Given the description of an element on the screen output the (x, y) to click on. 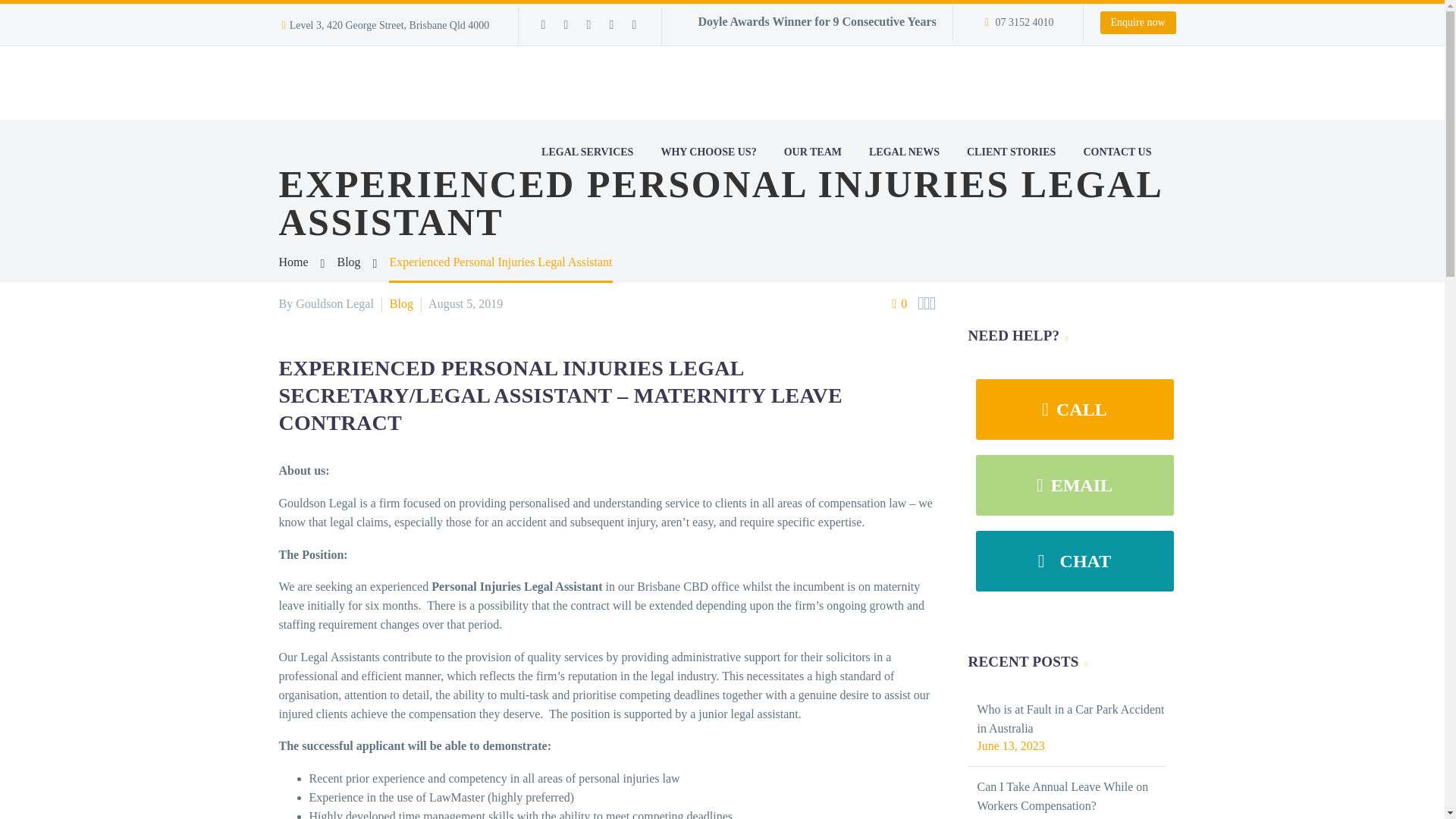
LEGAL NEWS (903, 151)
Facebook (542, 24)
Twitter (587, 24)
Enquire now (1138, 22)
LEGAL SERVICES (587, 151)
View all posts in Blog (401, 303)
CLIENT STORIES (1011, 151)
Level 3, 420 George Street, Brisbane Qld 4000 (389, 25)
07 3152 4010 (1023, 21)
OUR TEAM (813, 151)
